Given the description of an element on the screen output the (x, y) to click on. 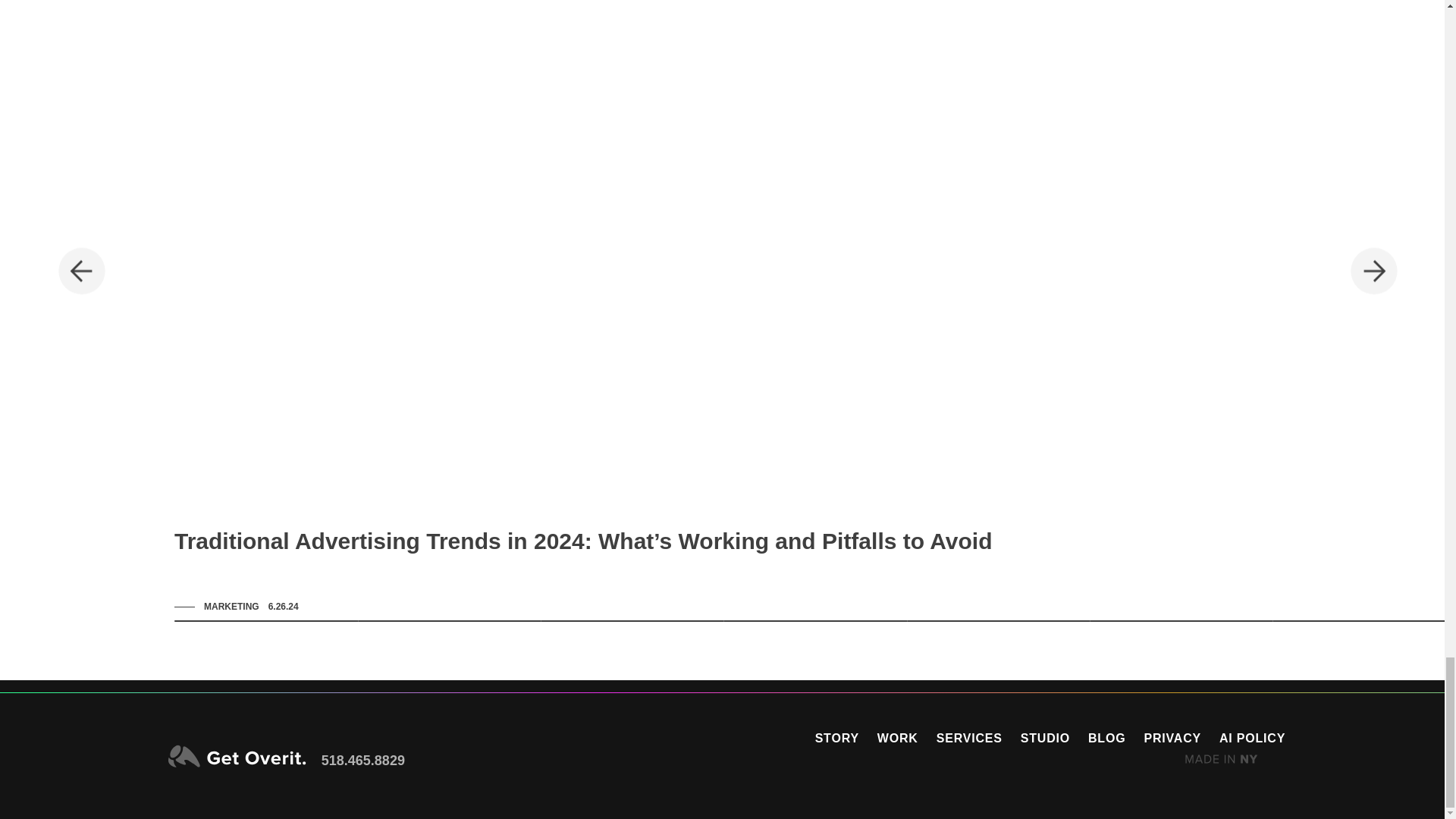
Overit (237, 757)
